Given the description of an element on the screen output the (x, y) to click on. 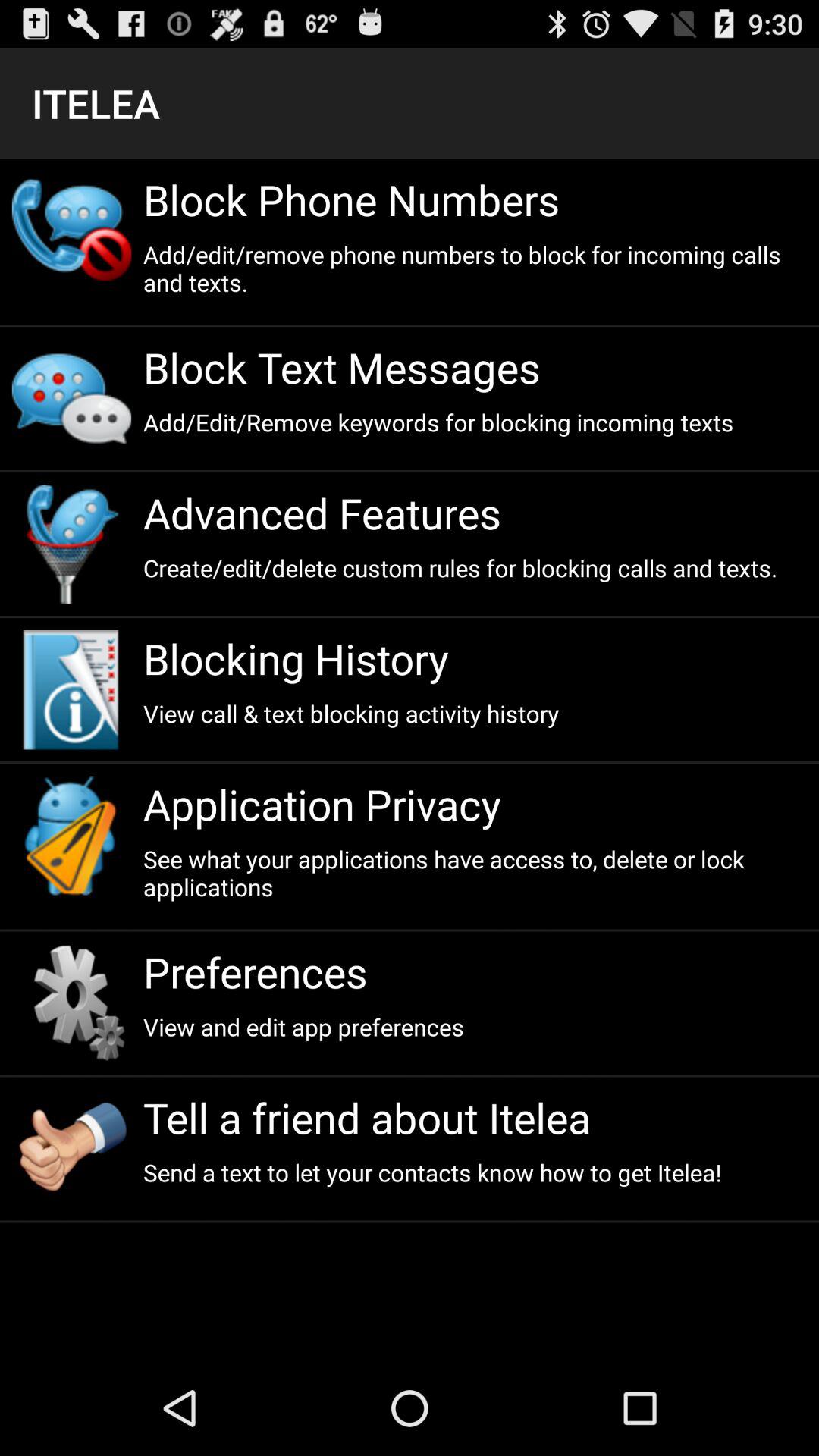
launch the app below view and edit item (475, 1117)
